Given the description of an element on the screen output the (x, y) to click on. 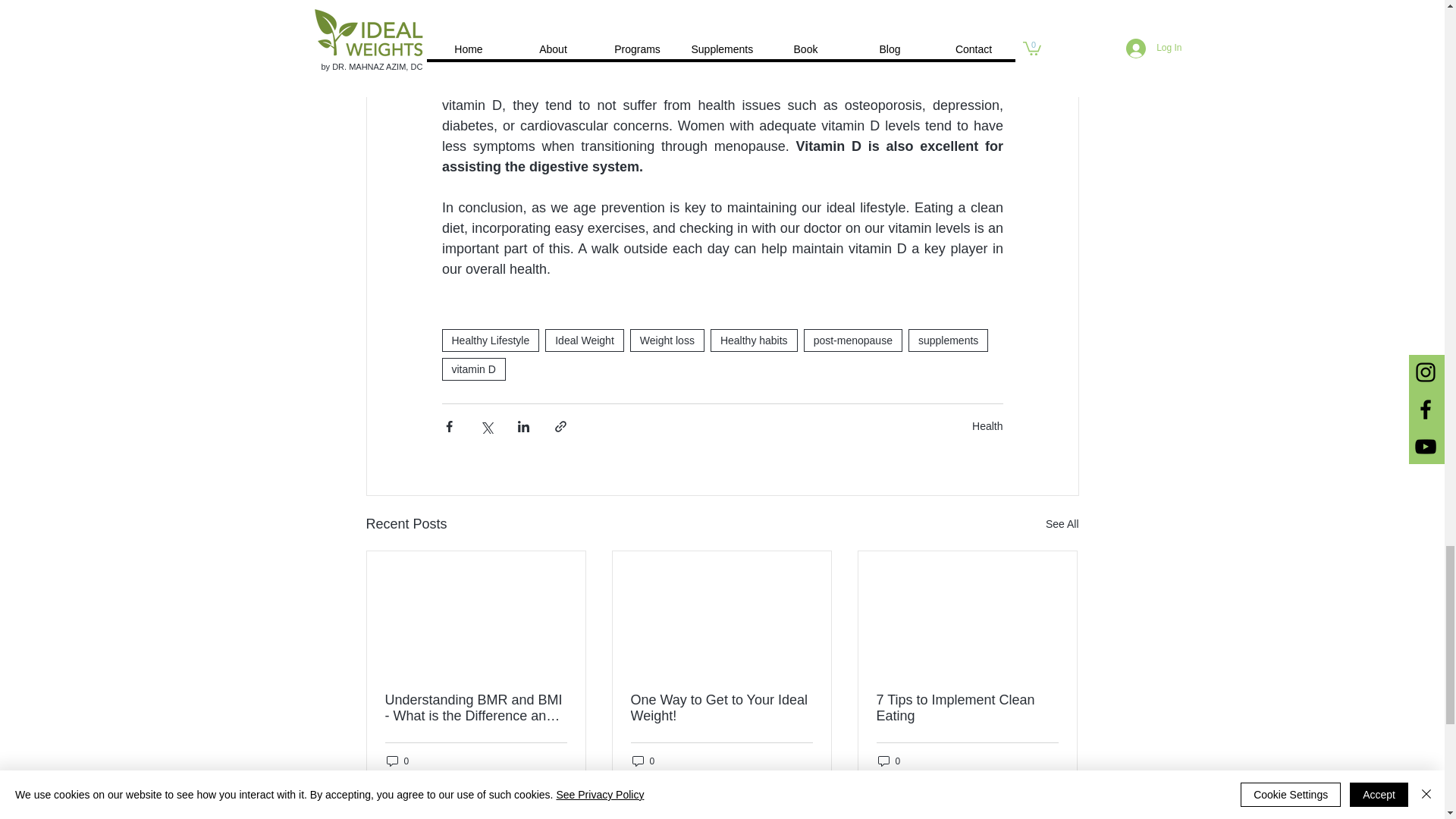
Weight loss (667, 340)
supplements (948, 340)
Healthy habits (753, 340)
Health (987, 426)
vitamin D (473, 368)
post-menopause (852, 340)
Ideal Weight (584, 340)
Healthy Lifestyle (489, 340)
